Given the description of an element on the screen output the (x, y) to click on. 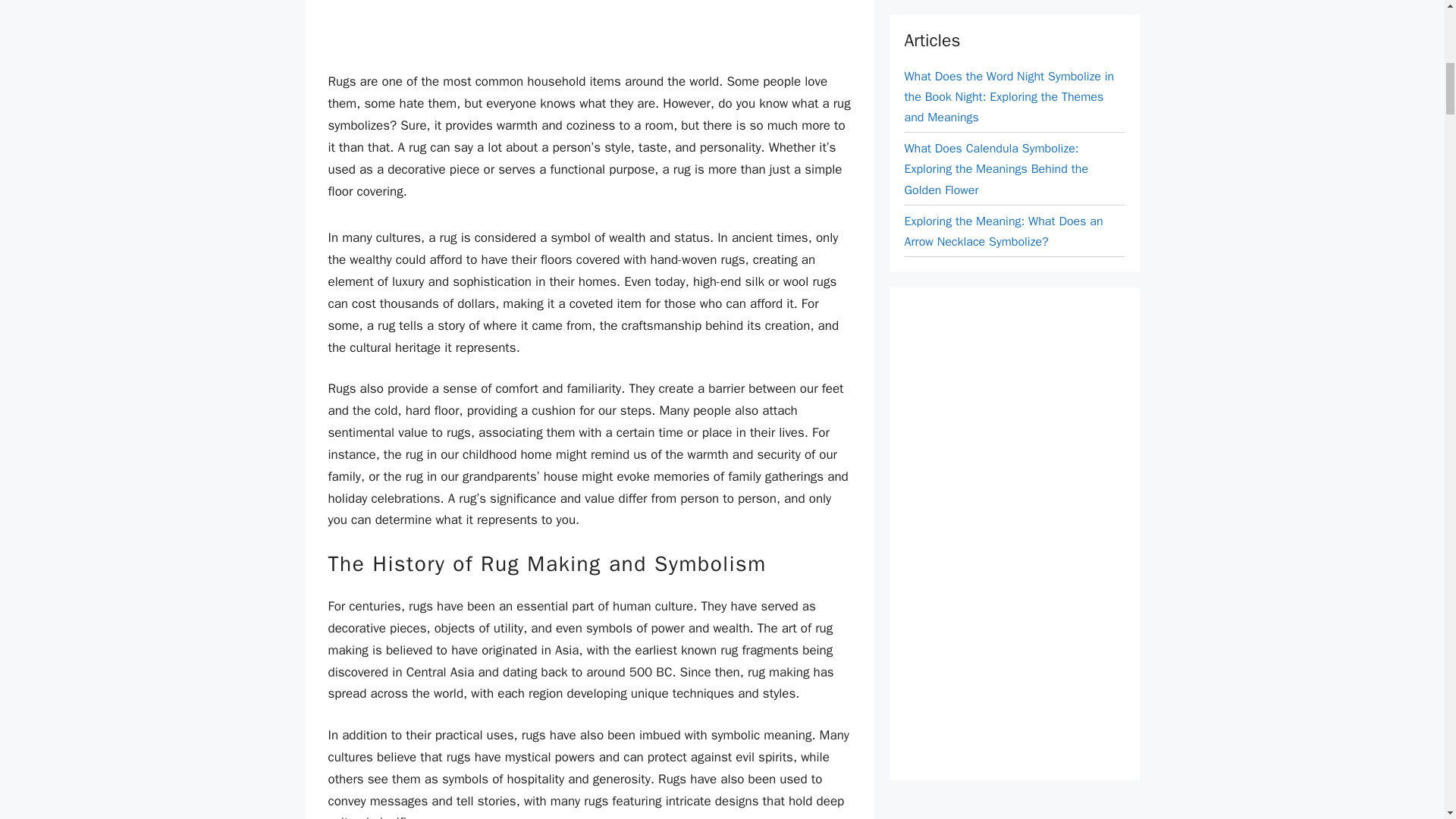
Advertisement (589, 28)
Advertisement (1017, 7)
